Given the description of an element on the screen output the (x, y) to click on. 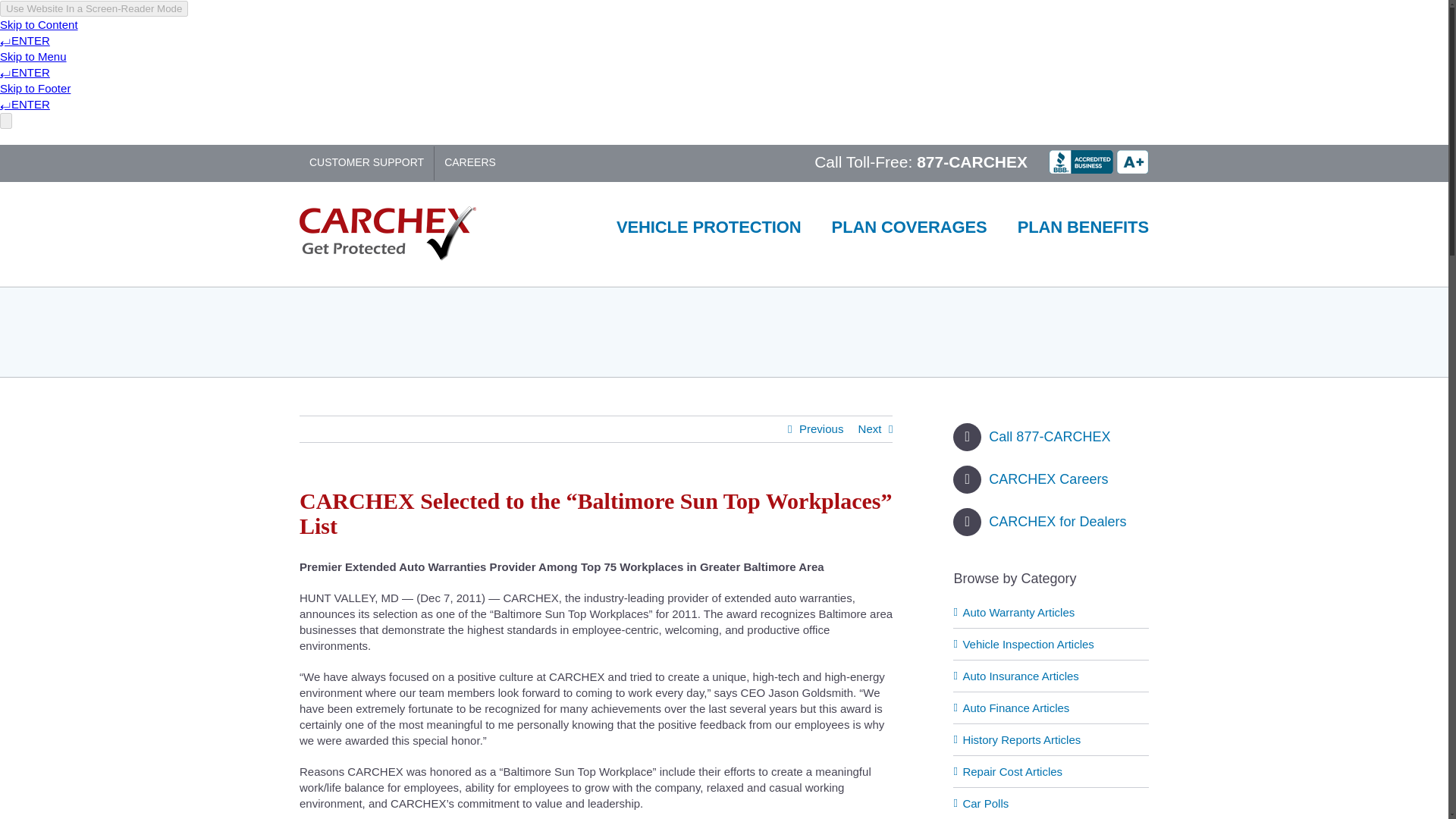
CAREERS (469, 162)
CUSTOMER SUPPORT (366, 162)
VEHICLE PROTECTION (708, 226)
PLAN COVERAGES (909, 226)
PLAN BENEFITS (1082, 226)
877-CARCHEX (972, 161)
Next (870, 429)
Previous (821, 429)
